Given the description of an element on the screen output the (x, y) to click on. 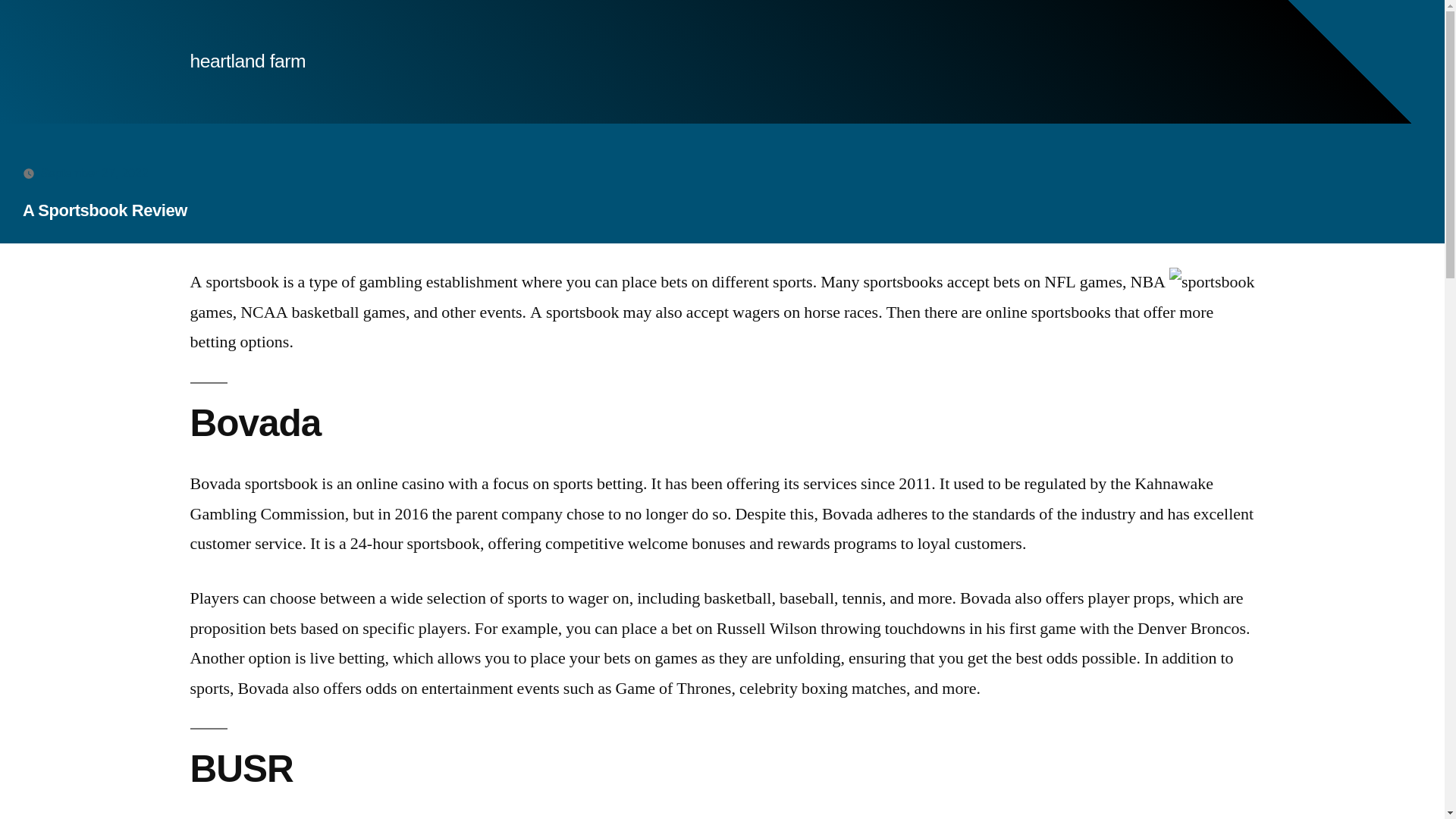
September 27, 2022 (94, 173)
heartland farm (247, 60)
